Given the description of an element on the screen output the (x, y) to click on. 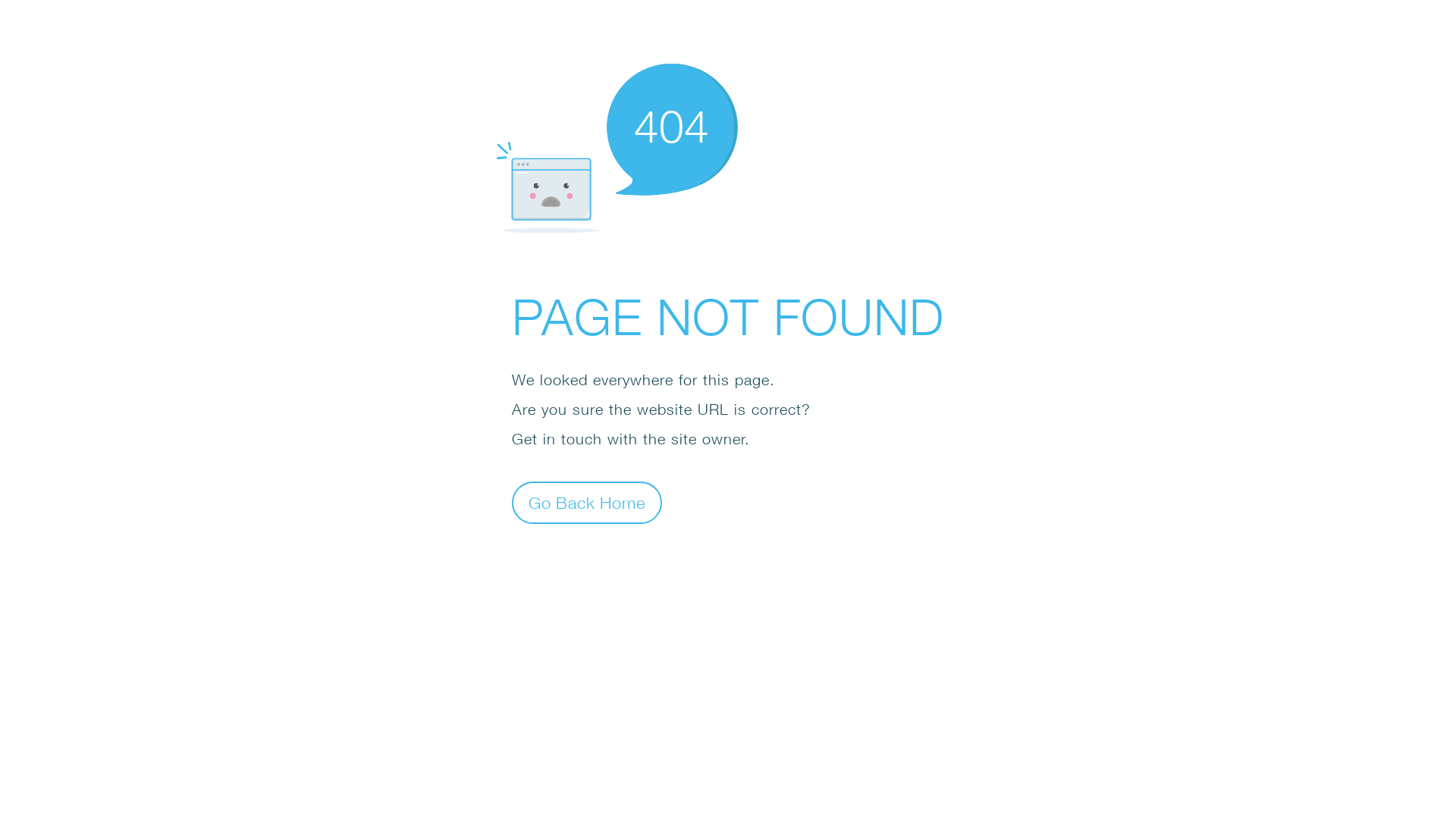
Go Back Home Element type: text (586, 502)
